Given the description of an element on the screen output the (x, y) to click on. 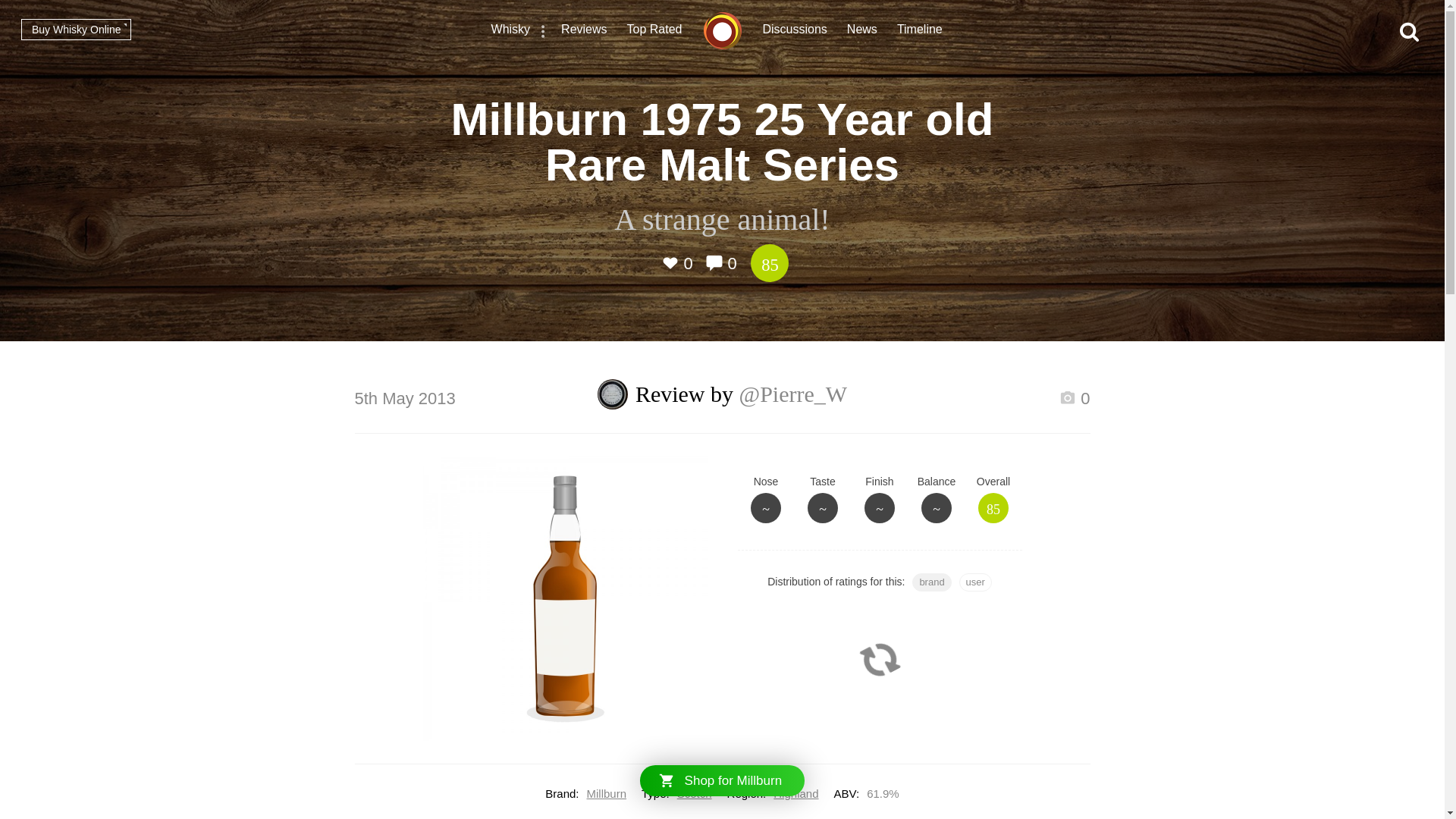
Highland (795, 793)
Whisky discussions (794, 31)
Scotch (694, 793)
Top Rated (654, 31)
0 (1074, 399)
Whisky Connosr (721, 30)
Buy Whisky Online (76, 29)
Reviews (583, 31)
Whisky reviews (583, 31)
Recent actvity timeline (919, 31)
News (862, 31)
Discussions (794, 31)
Whisky (511, 31)
Millburn (606, 793)
CONNOSR. (721, 30)
